Given the description of an element on the screen output the (x, y) to click on. 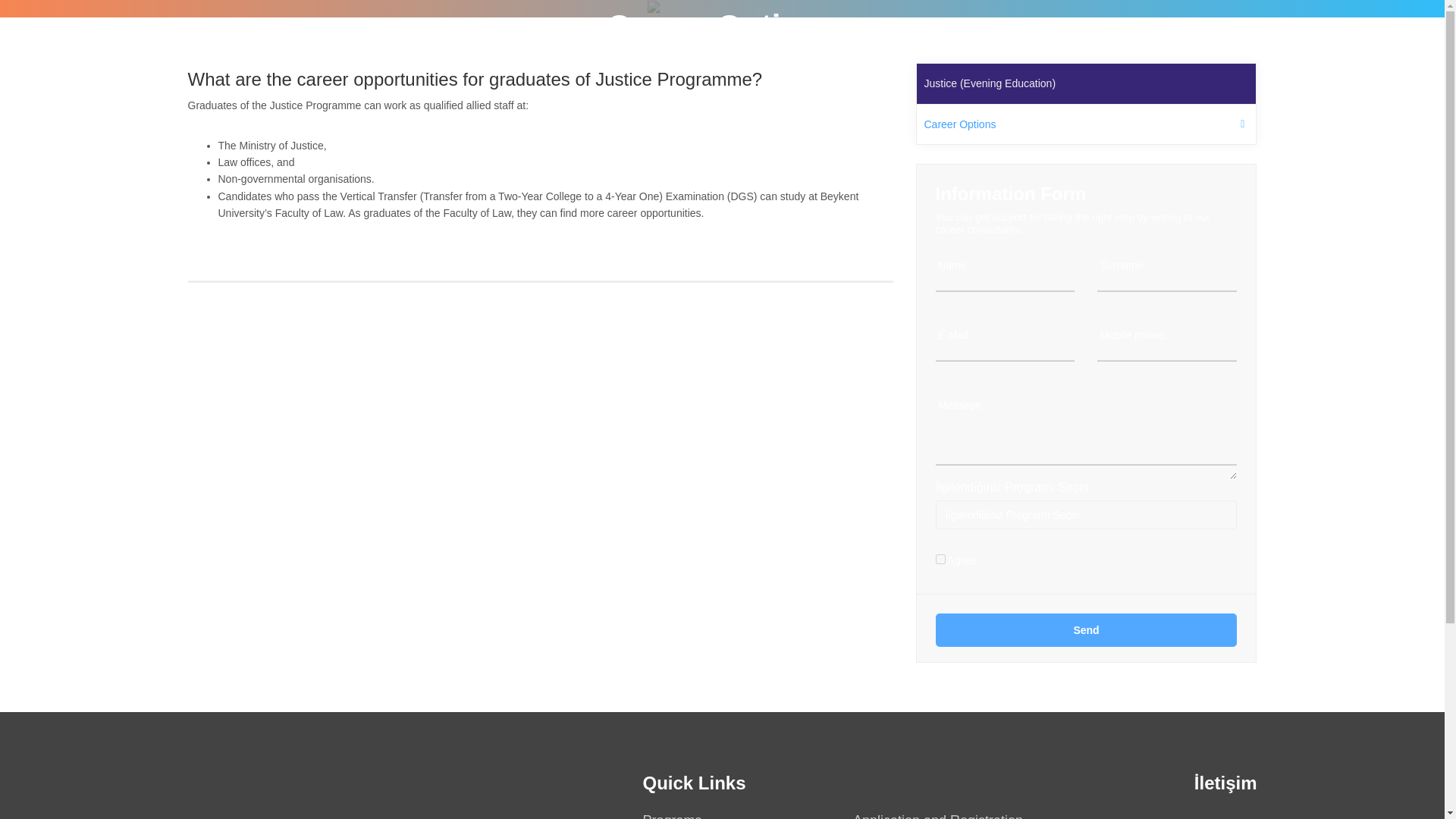
Career Options (1085, 124)
444 1997 (1208, 814)
PROGRAMS (1191, 45)
Agree (940, 559)
Send (1086, 630)
Programs (672, 814)
Application and Registration (938, 814)
MAINPAGE (1130, 46)
